Given the description of an element on the screen output the (x, y) to click on. 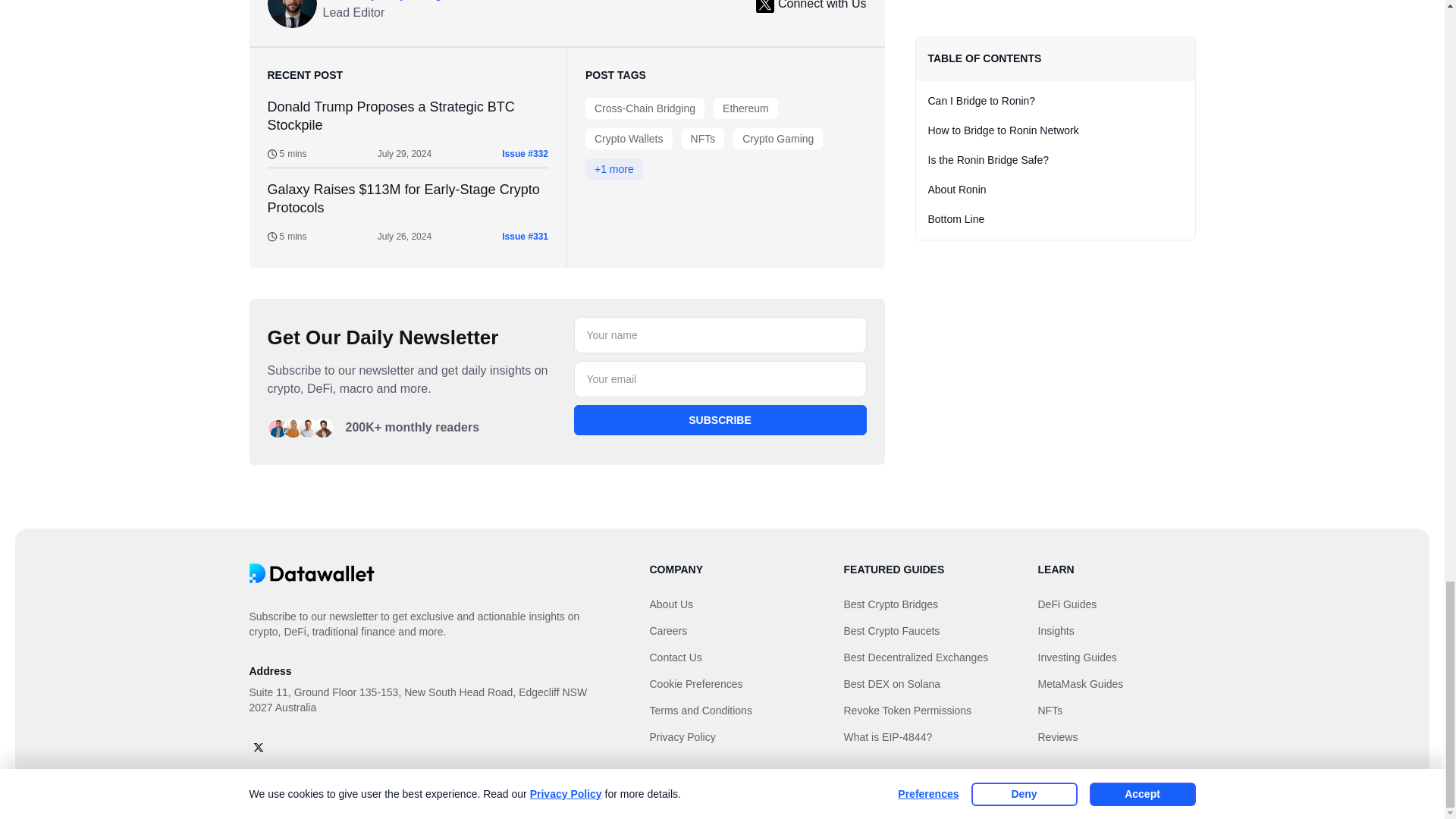
Tony Kreng (411, 2)
Subscribe (719, 419)
